Given the description of an element on the screen output the (x, y) to click on. 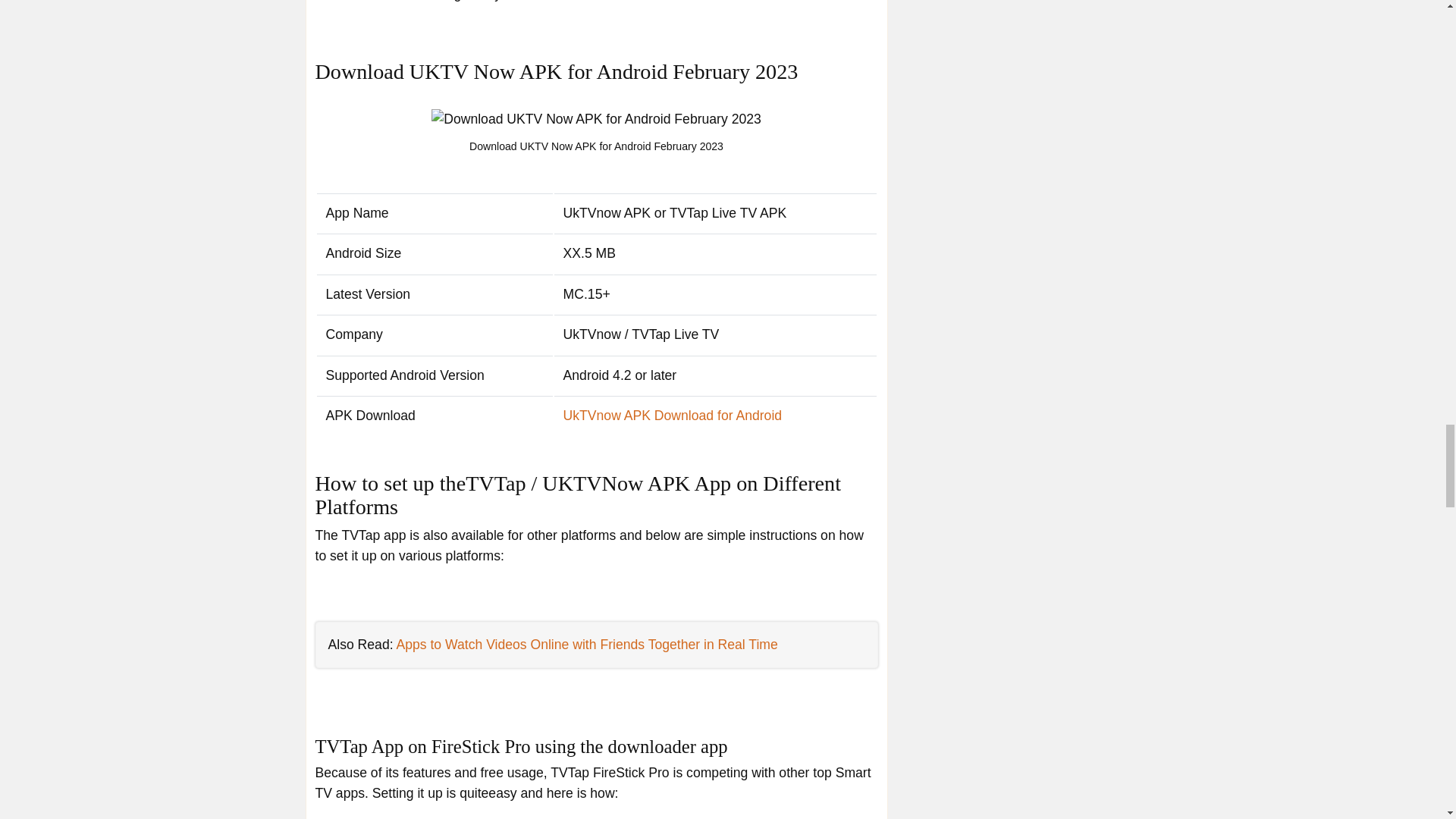
UkTVnow APK Download for Android (673, 415)
